Given the description of an element on the screen output the (x, y) to click on. 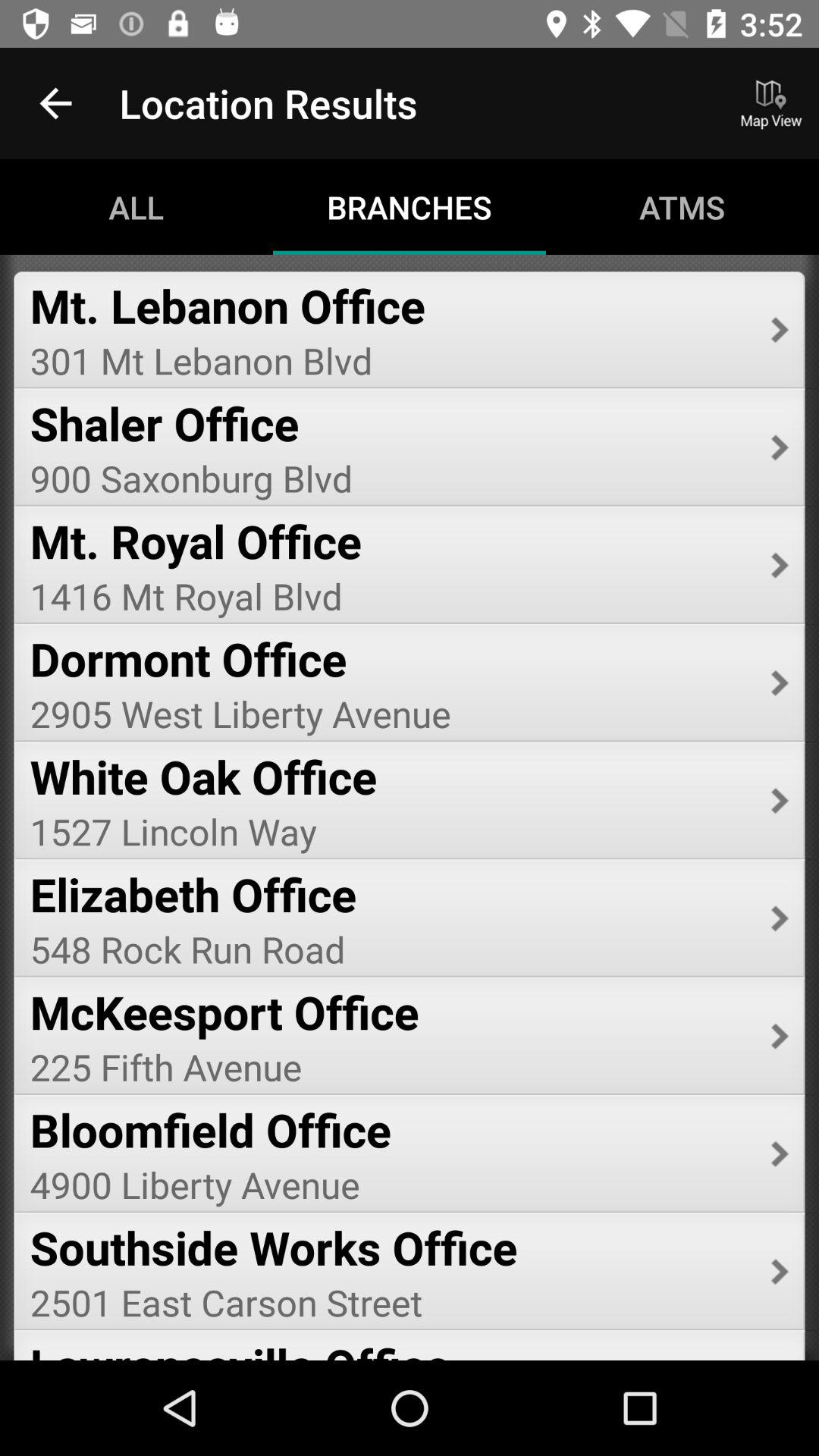
select item below the elizabeth office (390, 948)
